Given the description of an element on the screen output the (x, y) to click on. 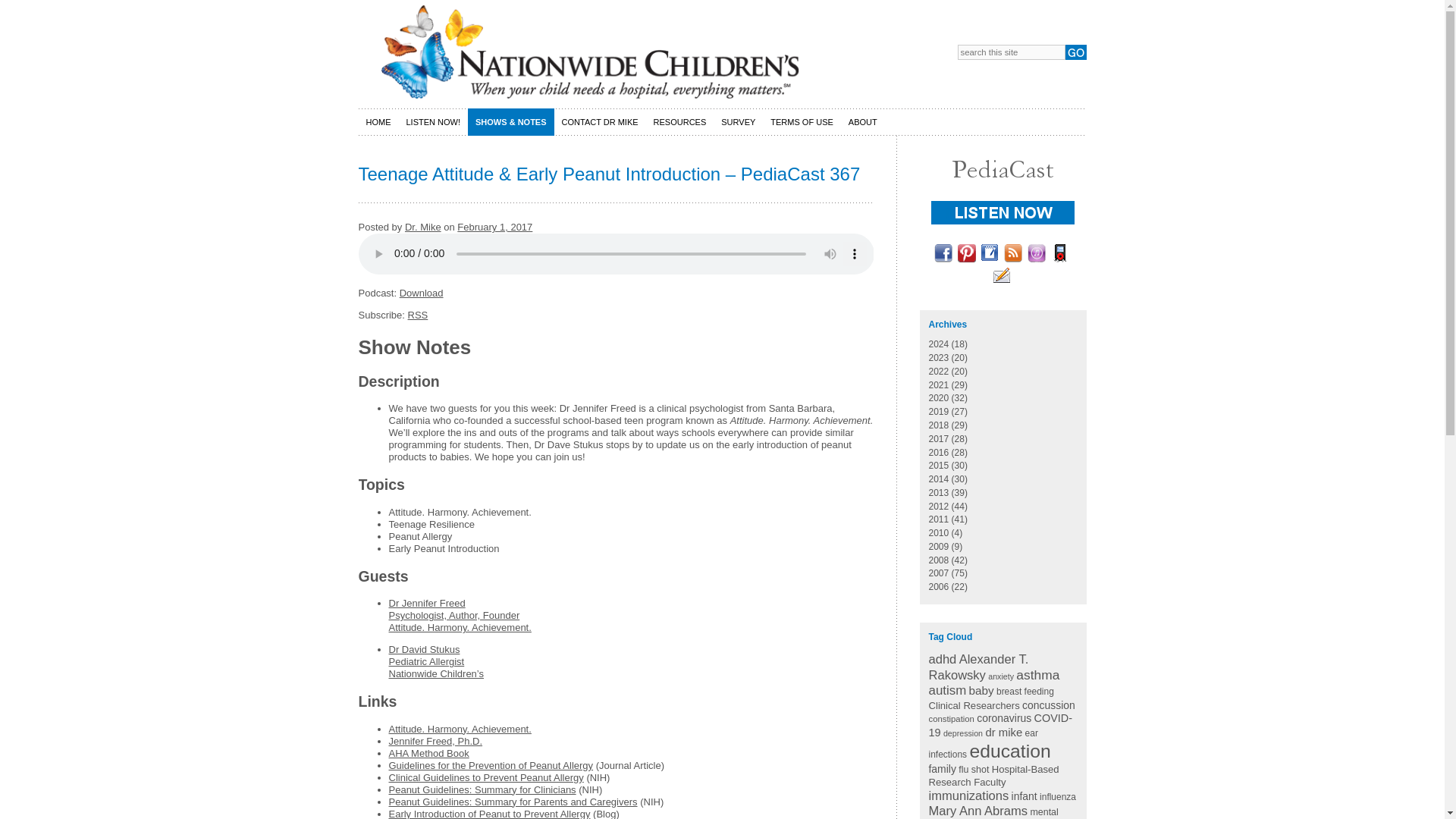
CONTACT DR MIKE (600, 121)
Attitude. Harmony. Achievement. (459, 728)
Attitude. Harmony. Achievement. (459, 627)
Subscribe via RSS (417, 315)
ABOUT (863, 121)
TERMS OF USE (801, 121)
HOME (377, 121)
Psychologist, Author, Founder (453, 614)
Dr David Stukus (424, 649)
RESOURCES (680, 121)
